Given the description of an element on the screen output the (x, y) to click on. 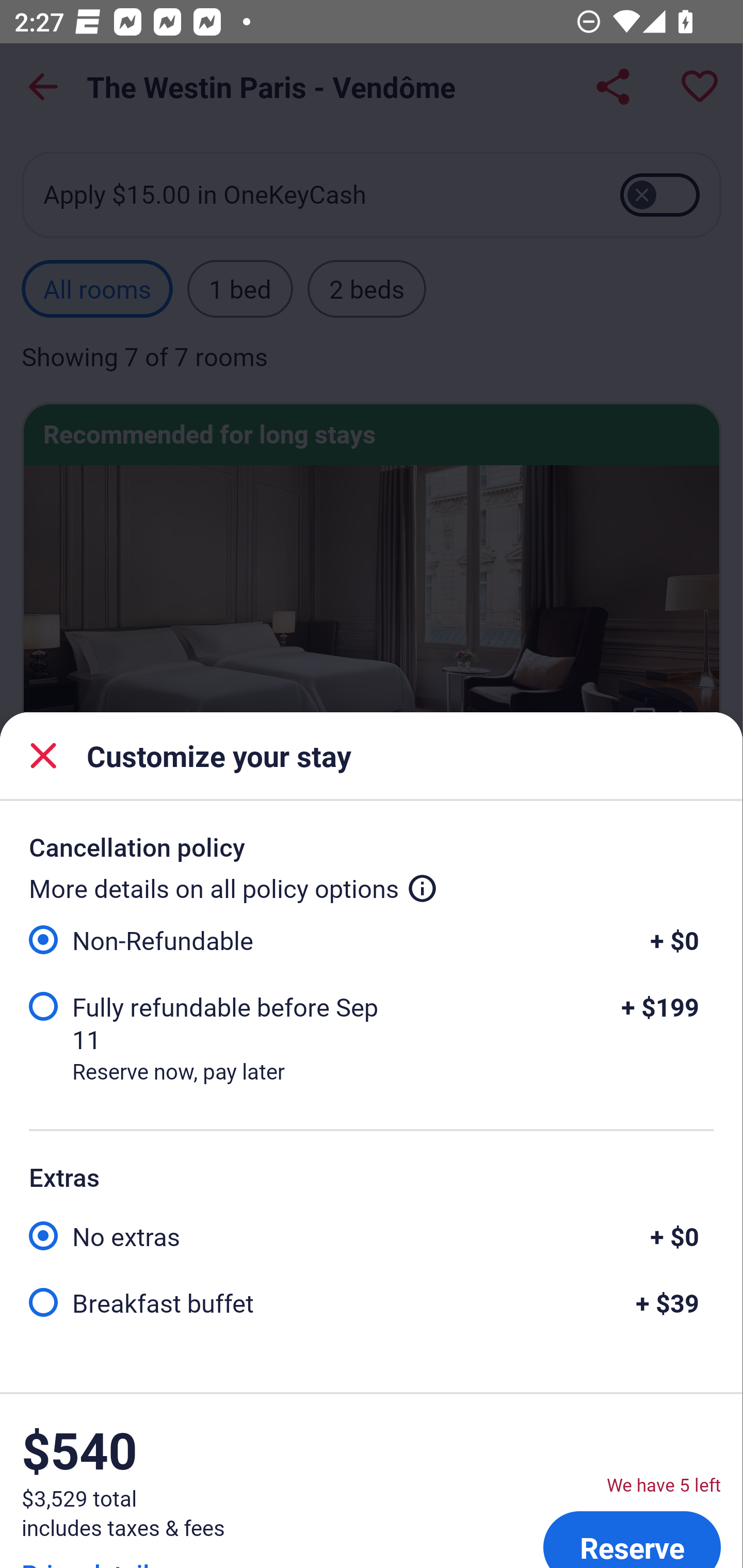
Close sheet (43, 755)
Breakfast buffet + $39 (370, 1301)
Reserve Deluxe Room, 2 Twin Beds Reserve (631, 1535)
